Given the description of an element on the screen output the (x, y) to click on. 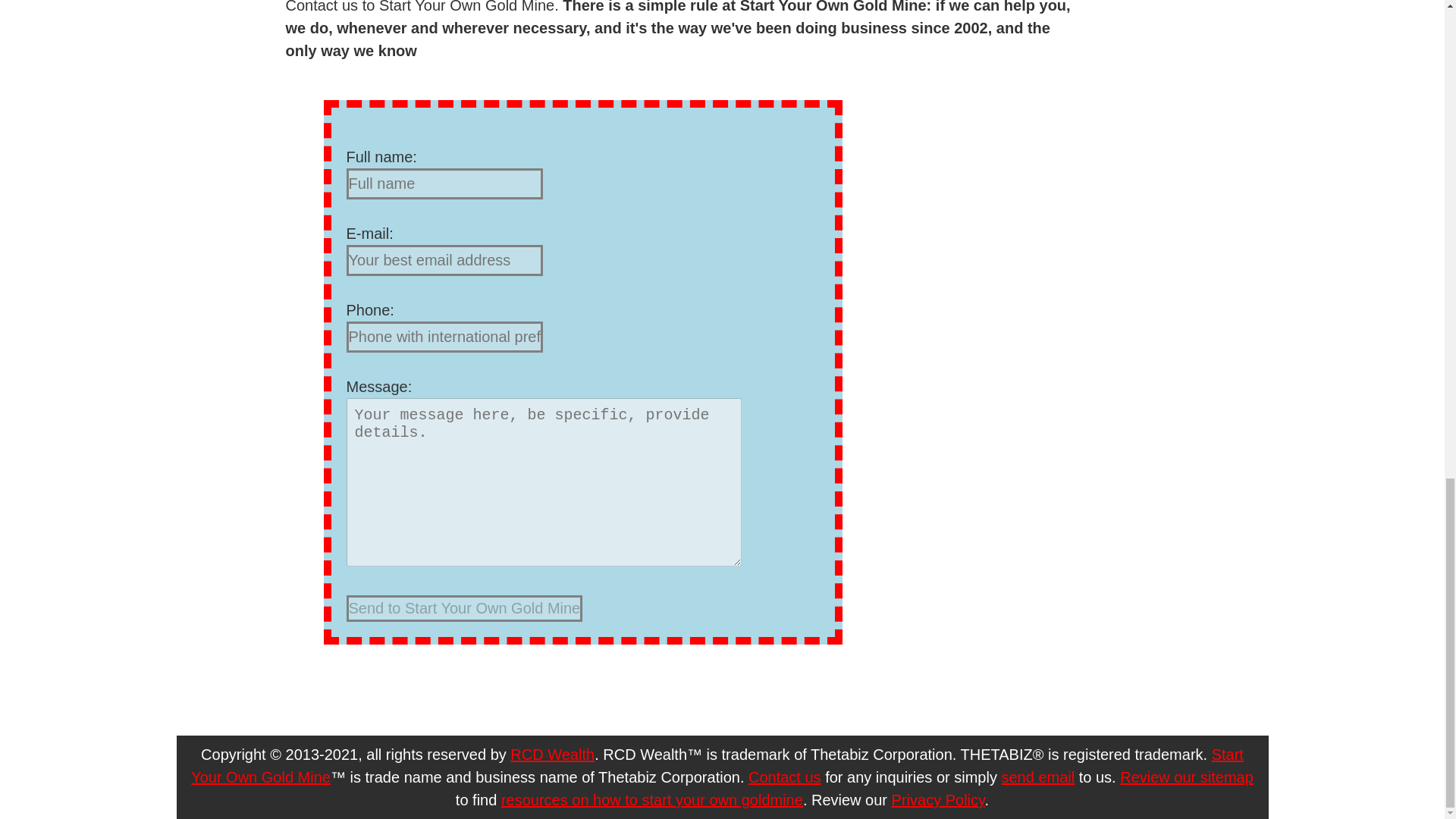
send email (1037, 777)
resources on how to start your own goldmine (651, 799)
Privacy Policy (938, 799)
Send to Start Your Own Gold Mine (464, 608)
Contact us (784, 777)
RCD Wealth (552, 754)
Privacy Policy (938, 799)
Send to Start Your Own Gold Mine (464, 608)
Sitemap of Start Your Own Gold Mine (651, 799)
Contact Start Your Own Gold Mine (784, 777)
RCD Wealth (552, 754)
